Given the description of an element on the screen output the (x, y) to click on. 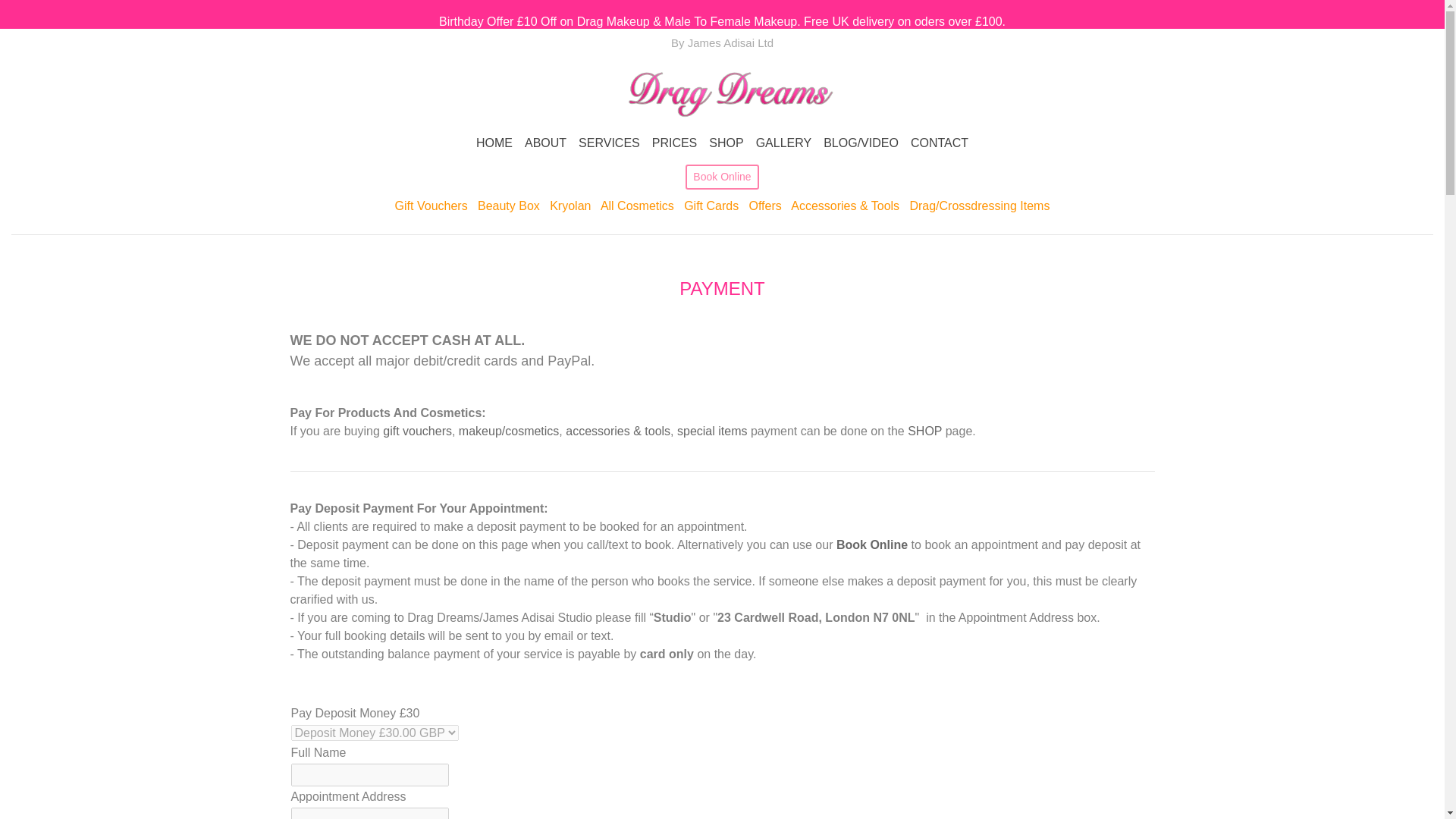
Book Online (721, 176)
GALLERY (783, 142)
SHOP (726, 142)
Beauty Box (508, 205)
HOME (494, 142)
CONTACT (939, 142)
SHOP (924, 431)
Gift Vouchers (430, 205)
All Cosmetics (636, 205)
Book Online (871, 544)
Gift Cards (711, 205)
special items (711, 431)
SERVICES (609, 142)
PRICES (674, 142)
gift vouchers (416, 431)
